Given the description of an element on the screen output the (x, y) to click on. 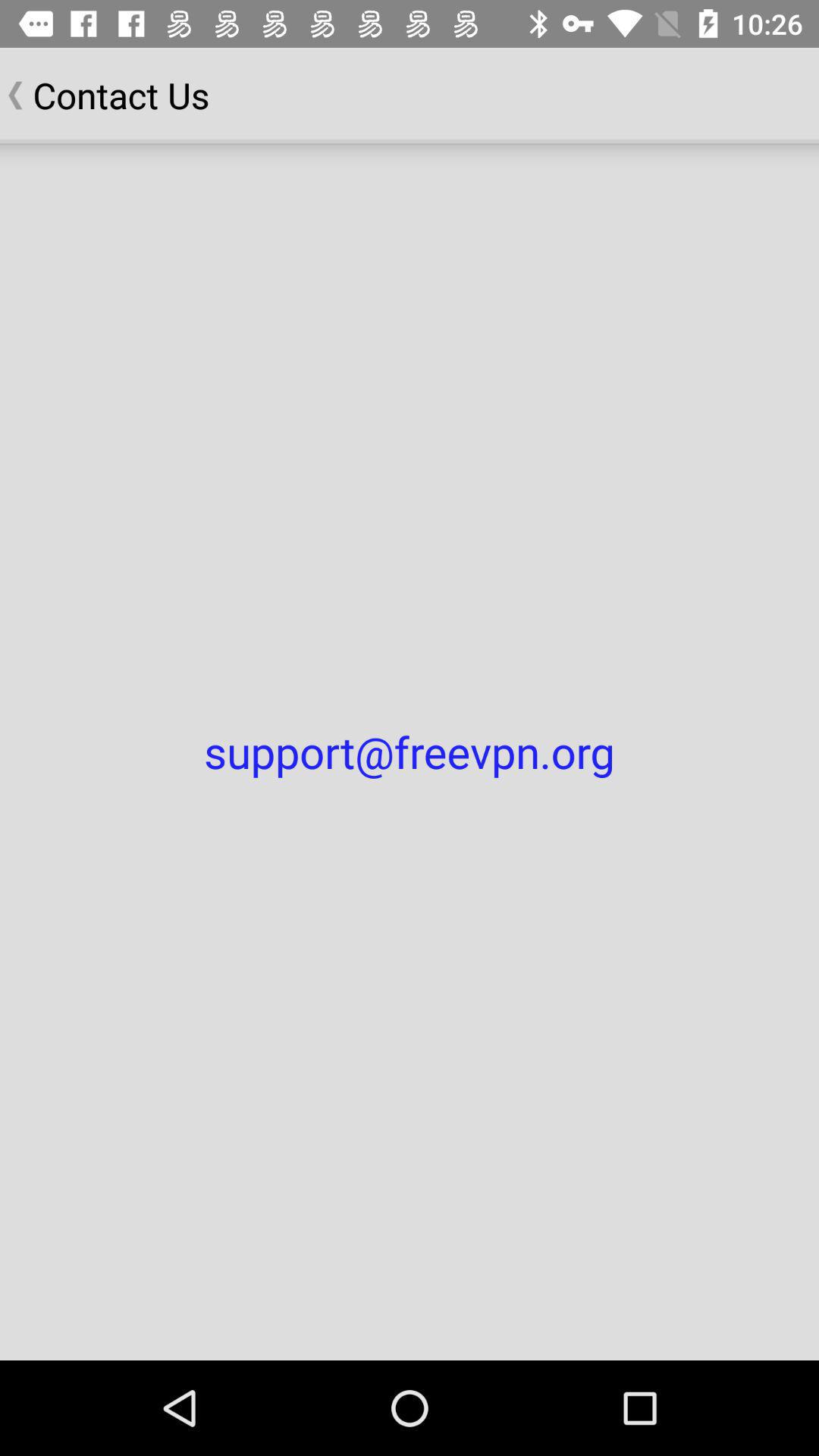
open item at the center (409, 751)
